Given the description of an element on the screen output the (x, y) to click on. 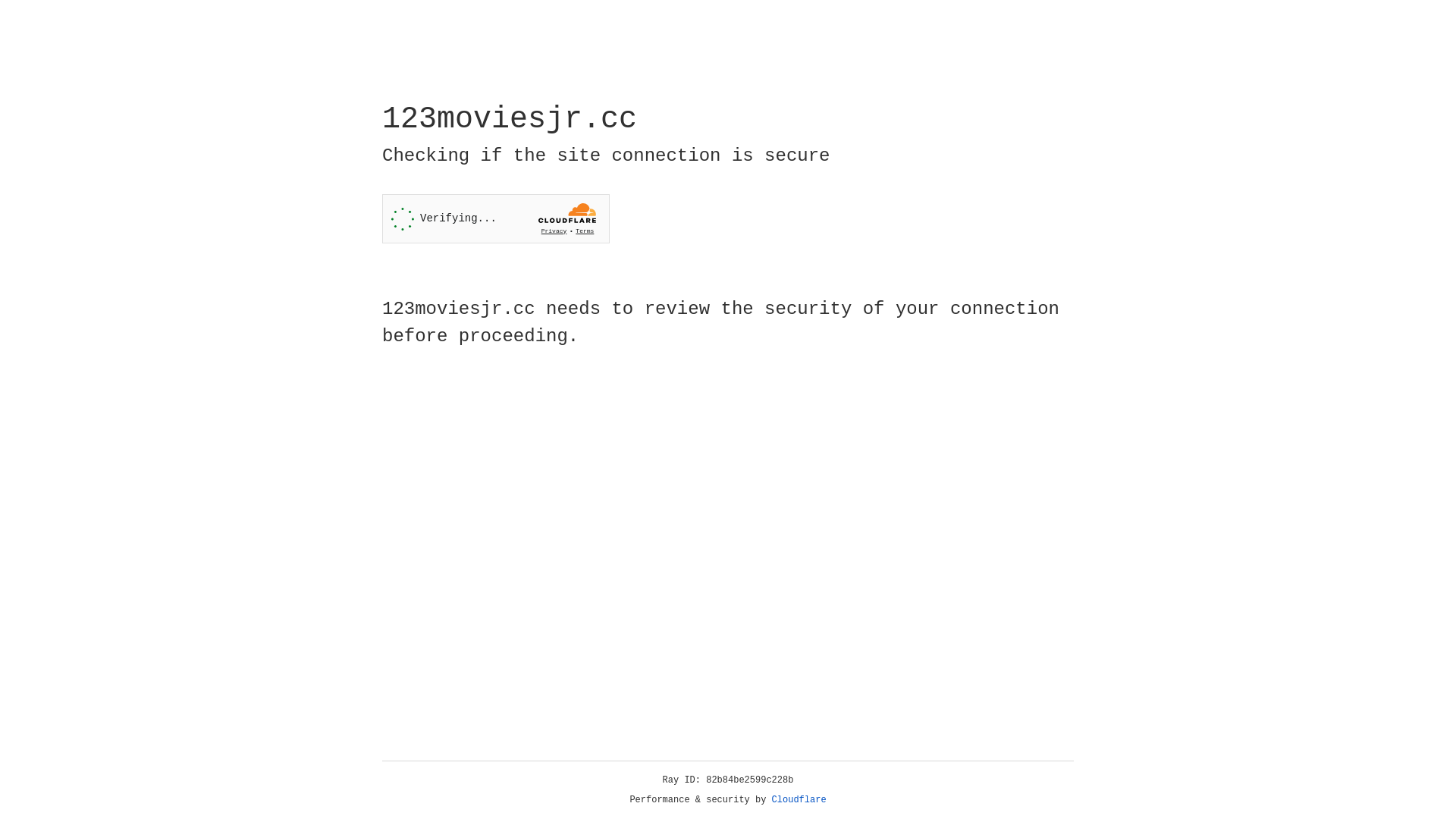
Widget containing a Cloudflare security challenge Element type: hover (495, 218)
Cloudflare Element type: text (798, 799)
